Given the description of an element on the screen output the (x, y) to click on. 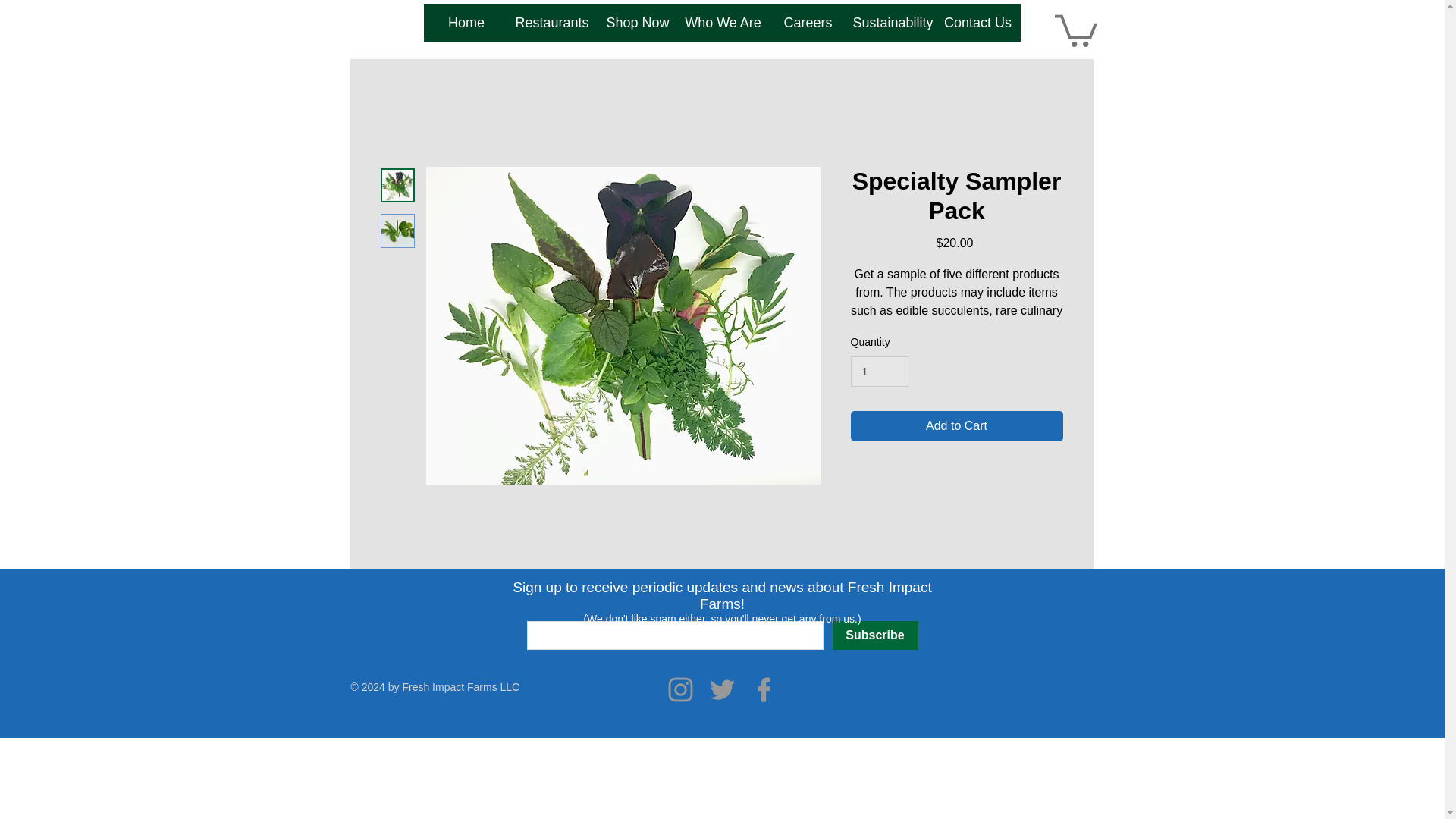
Sustainability (893, 22)
Subscribe (875, 635)
Contact Us (978, 22)
Restaurants (552, 22)
Add to Cart (956, 426)
Home (465, 22)
Who We Are (723, 22)
Careers (807, 22)
Shop Now (636, 22)
